Given the description of an element on the screen output the (x, y) to click on. 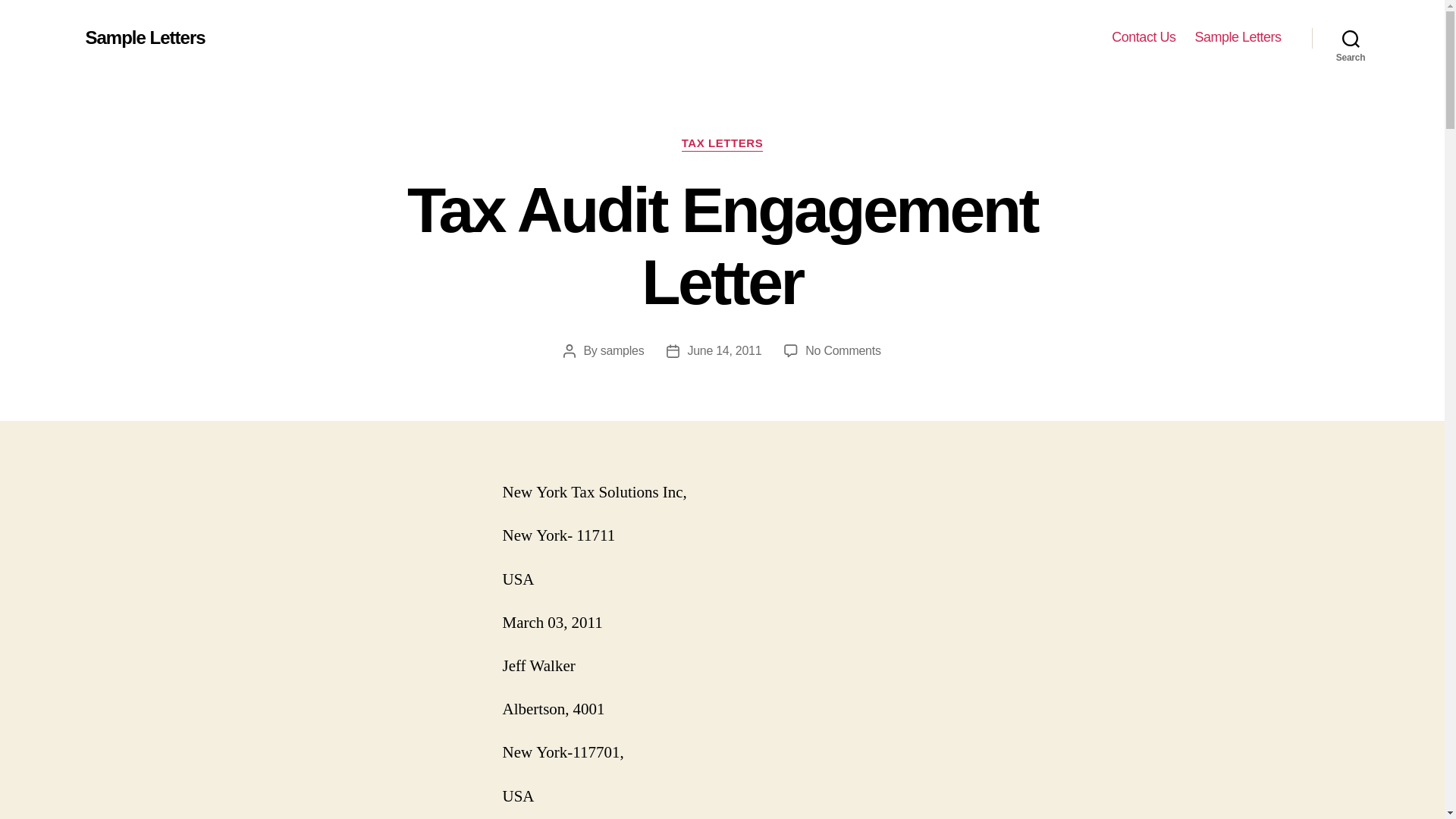
TAX LETTERS (721, 143)
Sample Letters (144, 37)
June 14, 2011 (842, 350)
Contact Us (724, 350)
Search (1143, 37)
Sample Letters (1350, 37)
samples (1237, 37)
